Given the description of an element on the screen output the (x, y) to click on. 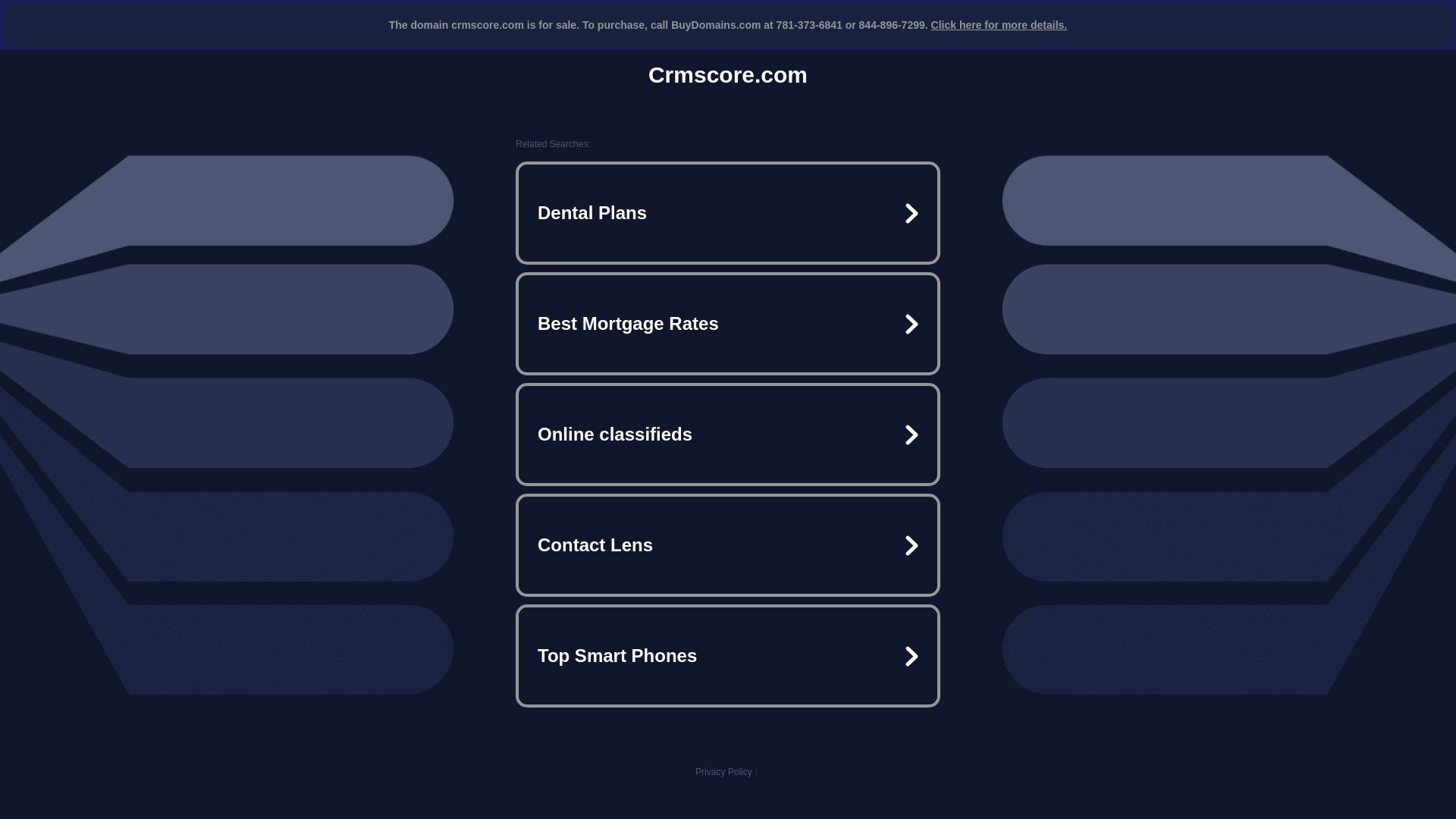
Dental Plans (727, 212)
Top Smart Phones (727, 655)
Best Mortgage Rates (727, 323)
Contact Lens (727, 544)
Crmscore.com (727, 74)
Contact Lens (727, 544)
Privacy Policy (723, 771)
Online classifieds (727, 434)
Best Mortgage Rates (727, 323)
Online classifieds (727, 434)
